Given the description of an element on the screen output the (x, y) to click on. 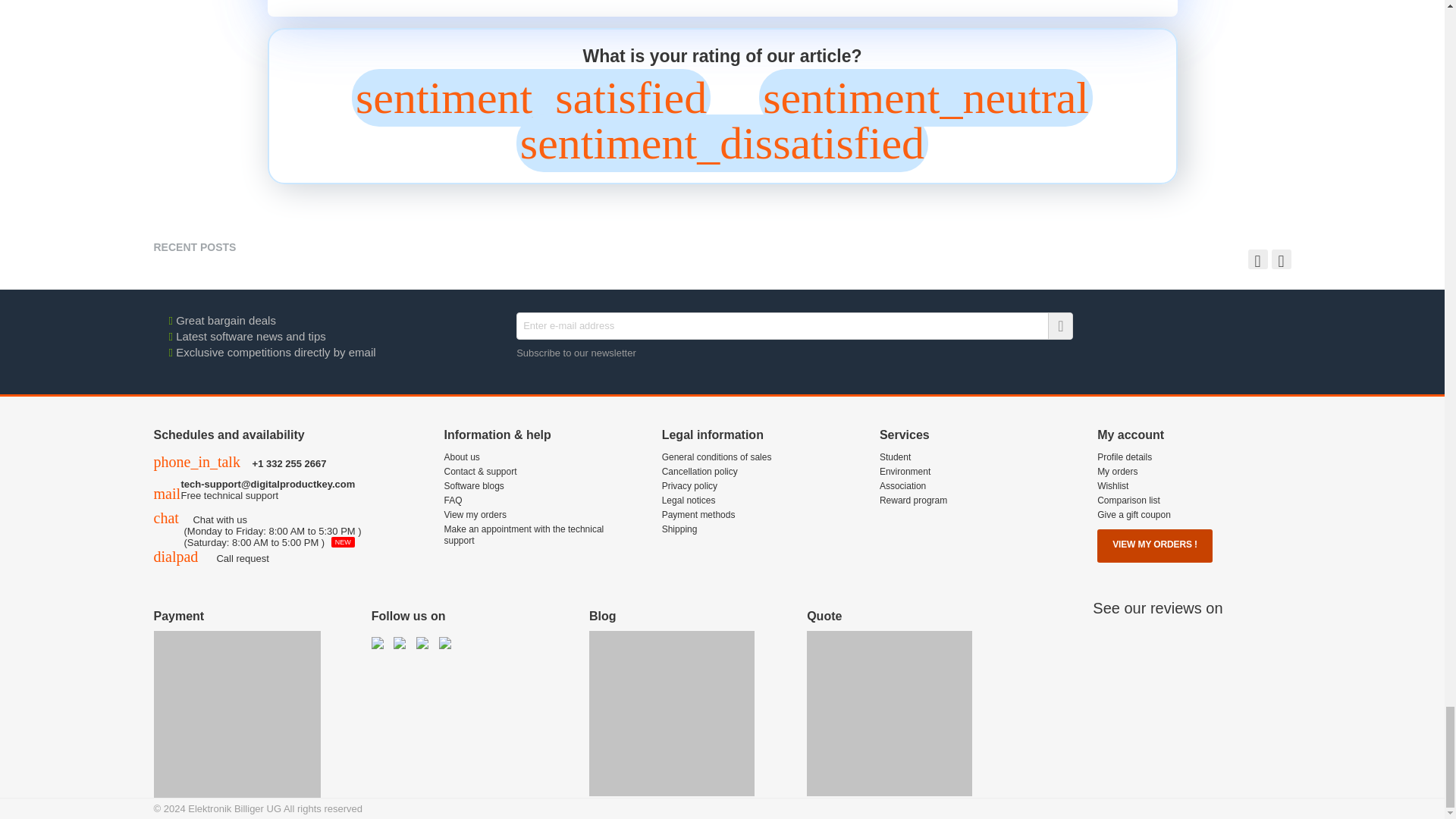
Enter e-mail address (794, 325)
